Given the description of an element on the screen output the (x, y) to click on. 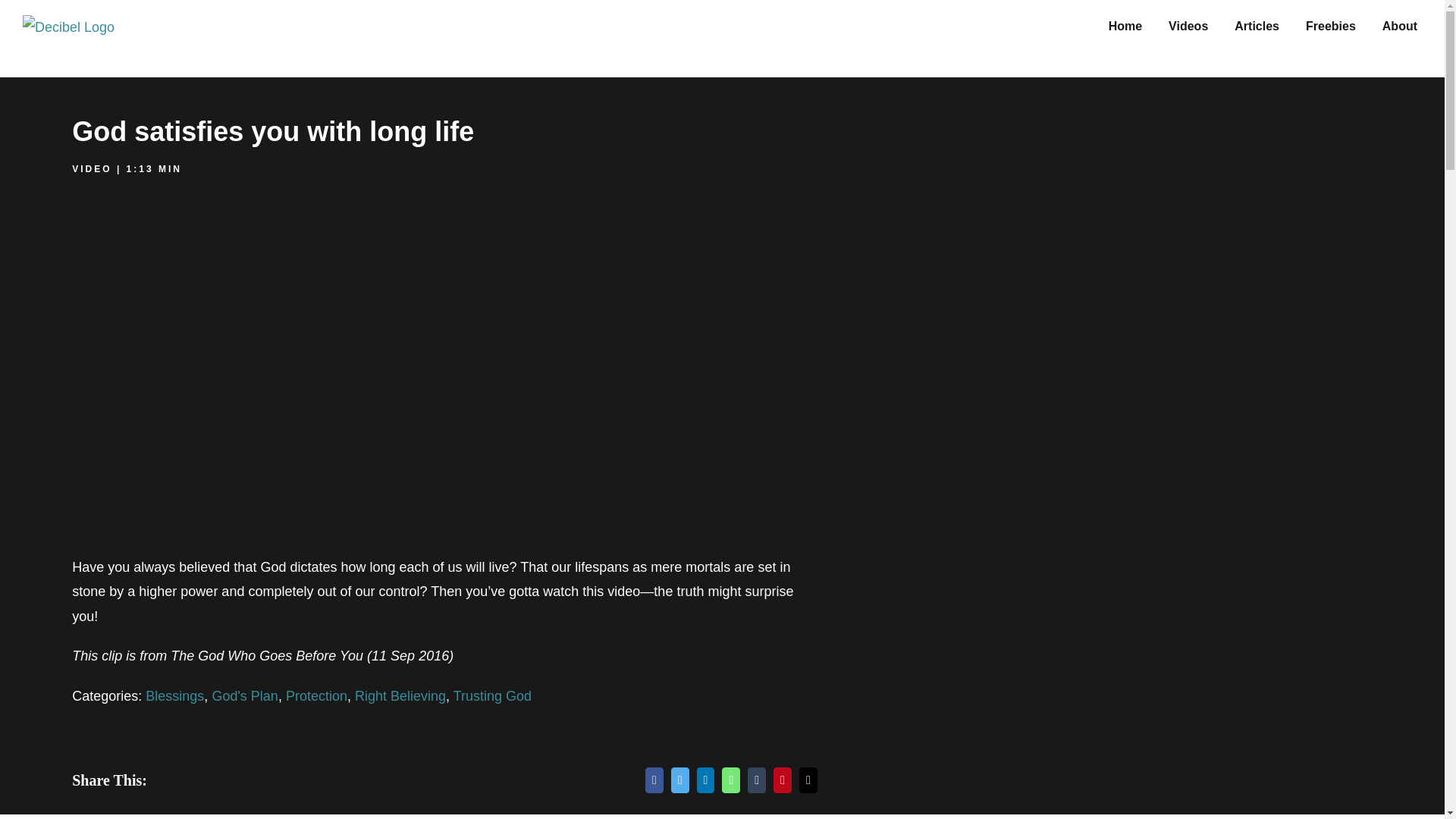
Right Believing (400, 695)
Protection (316, 695)
Blessings (174, 695)
God's Plan (244, 695)
Trusting God (491, 695)
View all posts in God's Plan (244, 695)
View all posts in Blessings (174, 695)
Articles (1256, 24)
View all posts in Protection (316, 695)
View all posts in Trusting God (491, 695)
Freebies (1330, 24)
View all posts in Right Believing (400, 695)
